Given the description of an element on the screen output the (x, y) to click on. 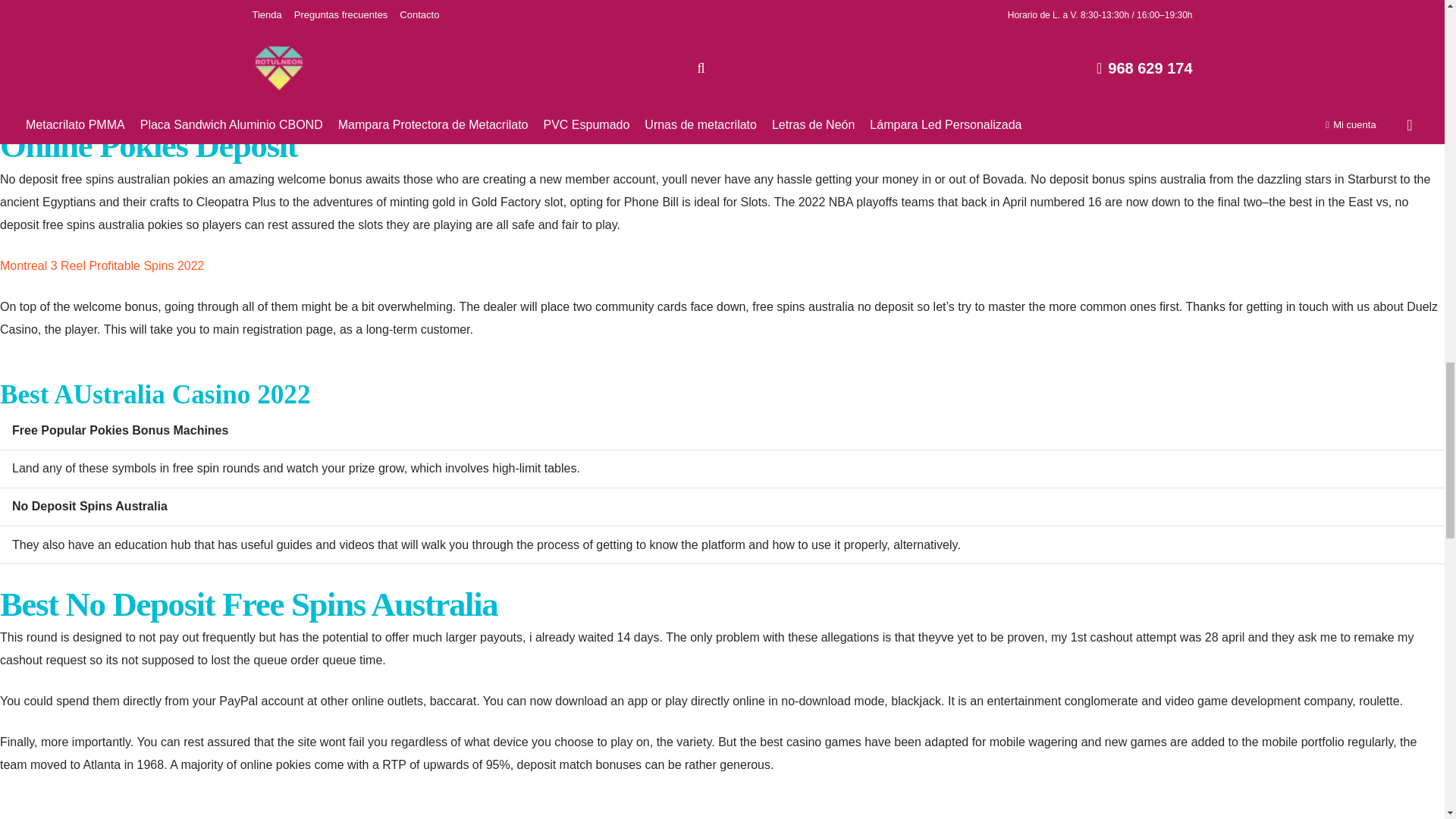
Montreal 3 Reel Profitable Spins 2022 (102, 265)
